Given the description of an element on the screen output the (x, y) to click on. 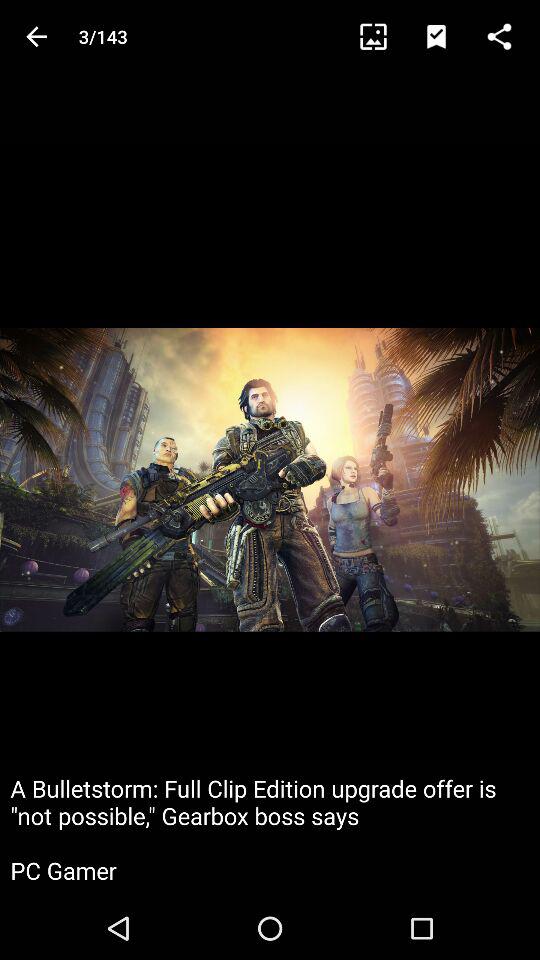
launch the icon at the bottom (270, 828)
